Given the description of an element on the screen output the (x, y) to click on. 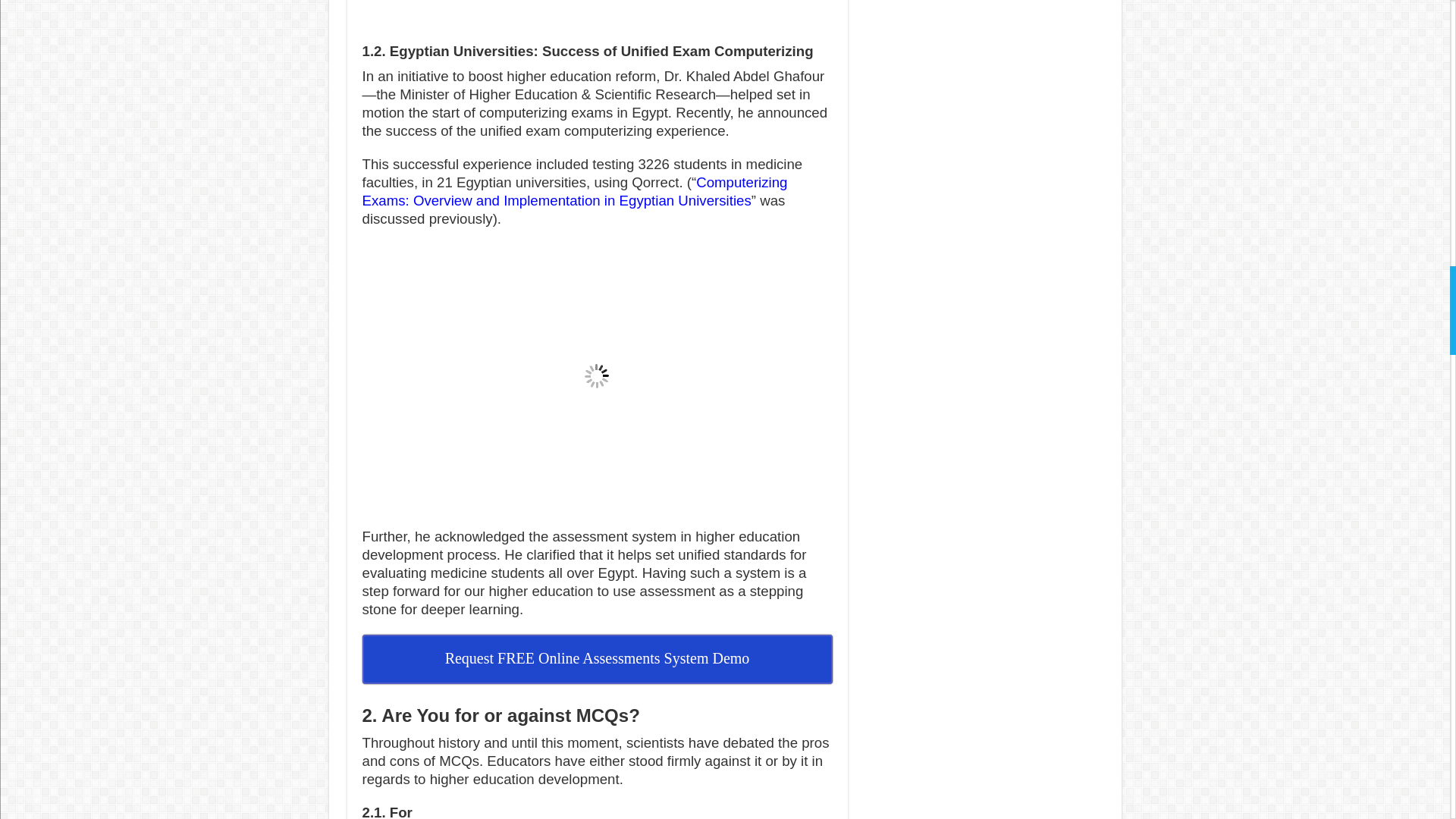
Request FREE Online Assessments System Demo (597, 658)
